Given the description of an element on the screen output the (x, y) to click on. 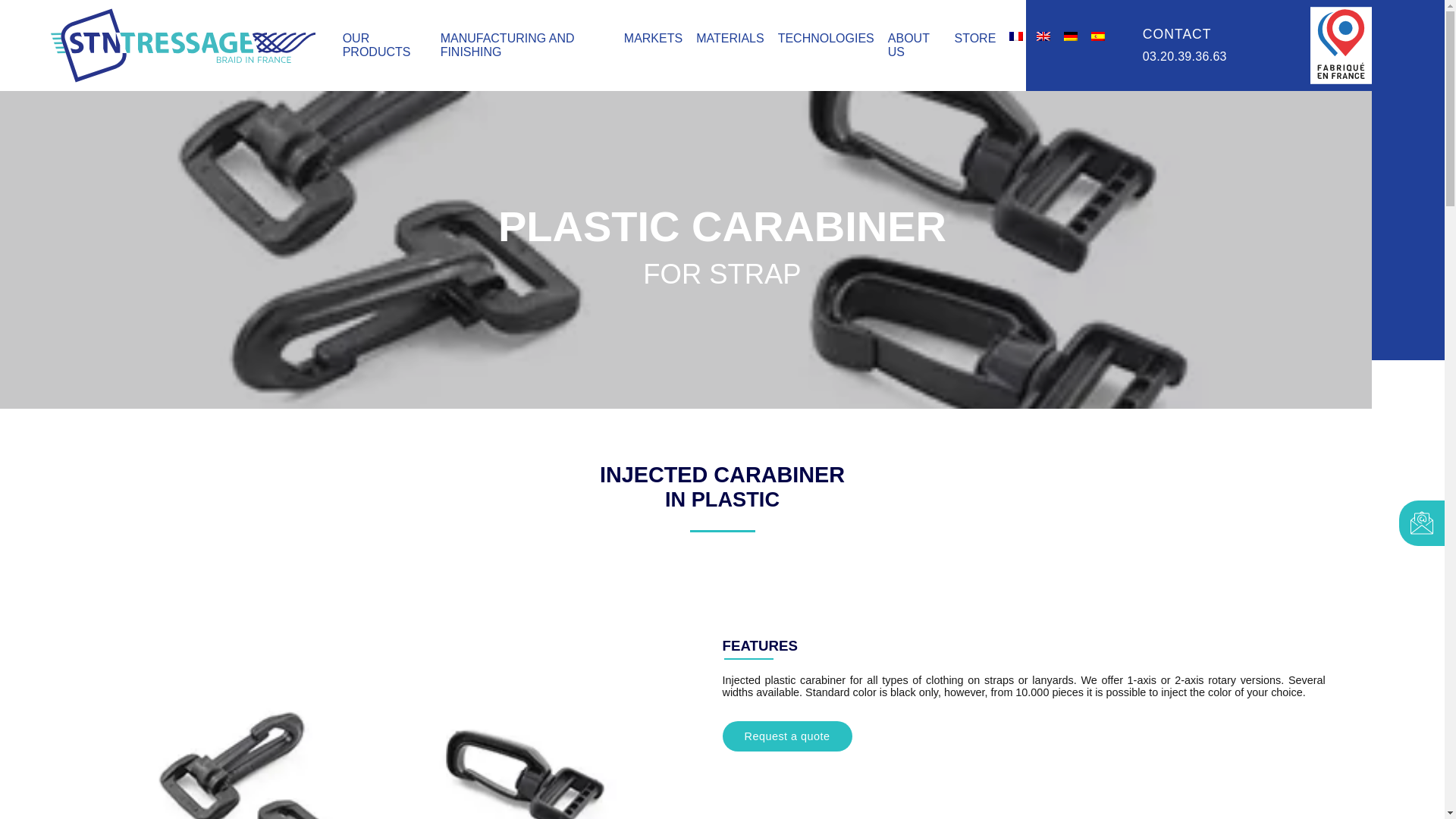
MANUFACTURING AND FINISHING (508, 44)
STORE (974, 38)
MARKETS (653, 38)
MATERIALS (729, 38)
TECHNOLOGIES (826, 38)
ABOUT US (909, 44)
OUR PRODUCTS (376, 44)
